Given the description of an element on the screen output the (x, y) to click on. 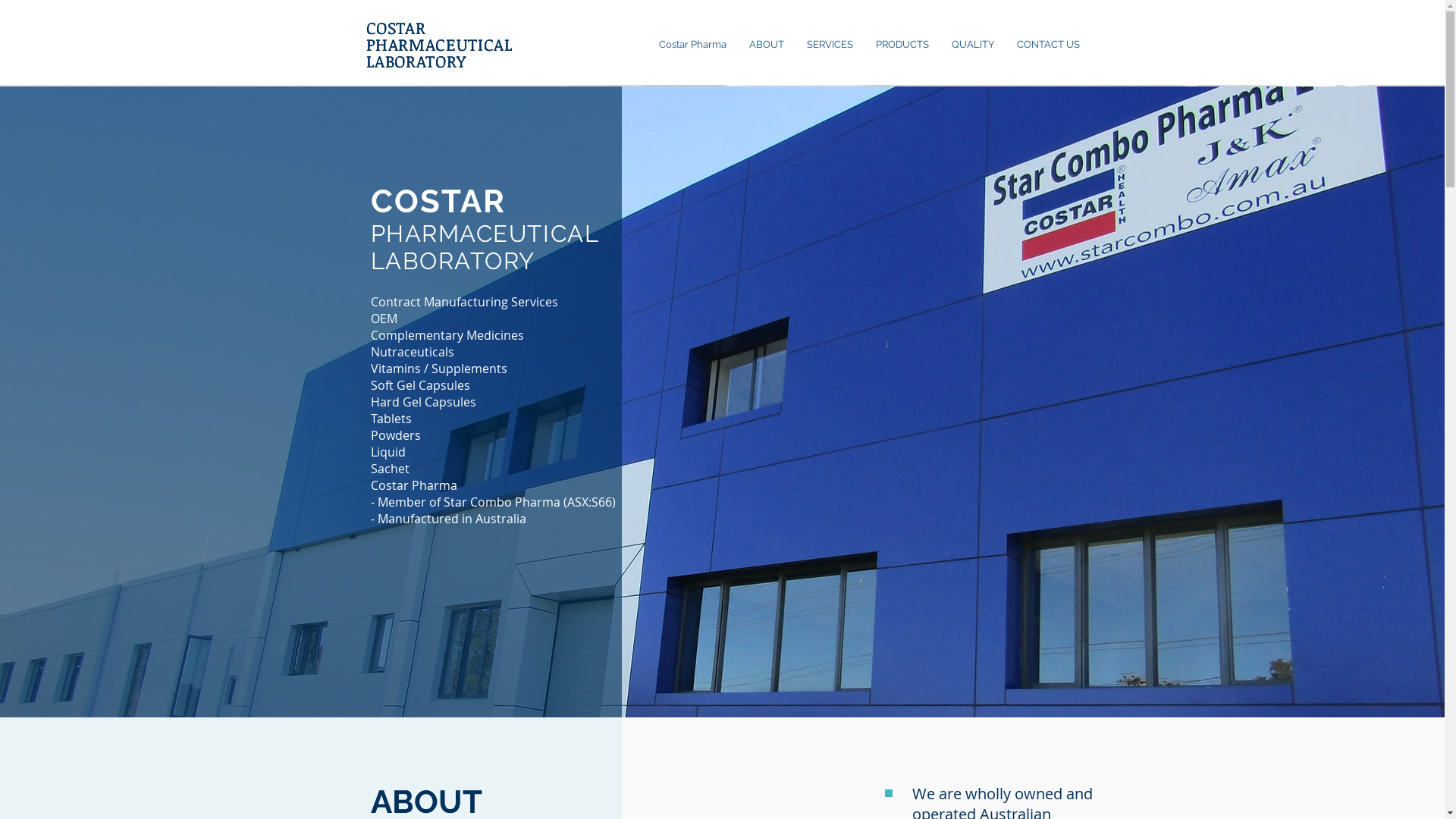
Costar Pharma Element type: text (692, 44)
SERVICES Element type: text (828, 44)
PRODUCTS Element type: text (902, 44)
CONTACT US Element type: text (1048, 44)
QUALITY Element type: text (972, 44)
ABOUT Element type: text (765, 44)
COSTAR
PHARMACEUTICAL Element type: text (438, 35)
